Given the description of an element on the screen output the (x, y) to click on. 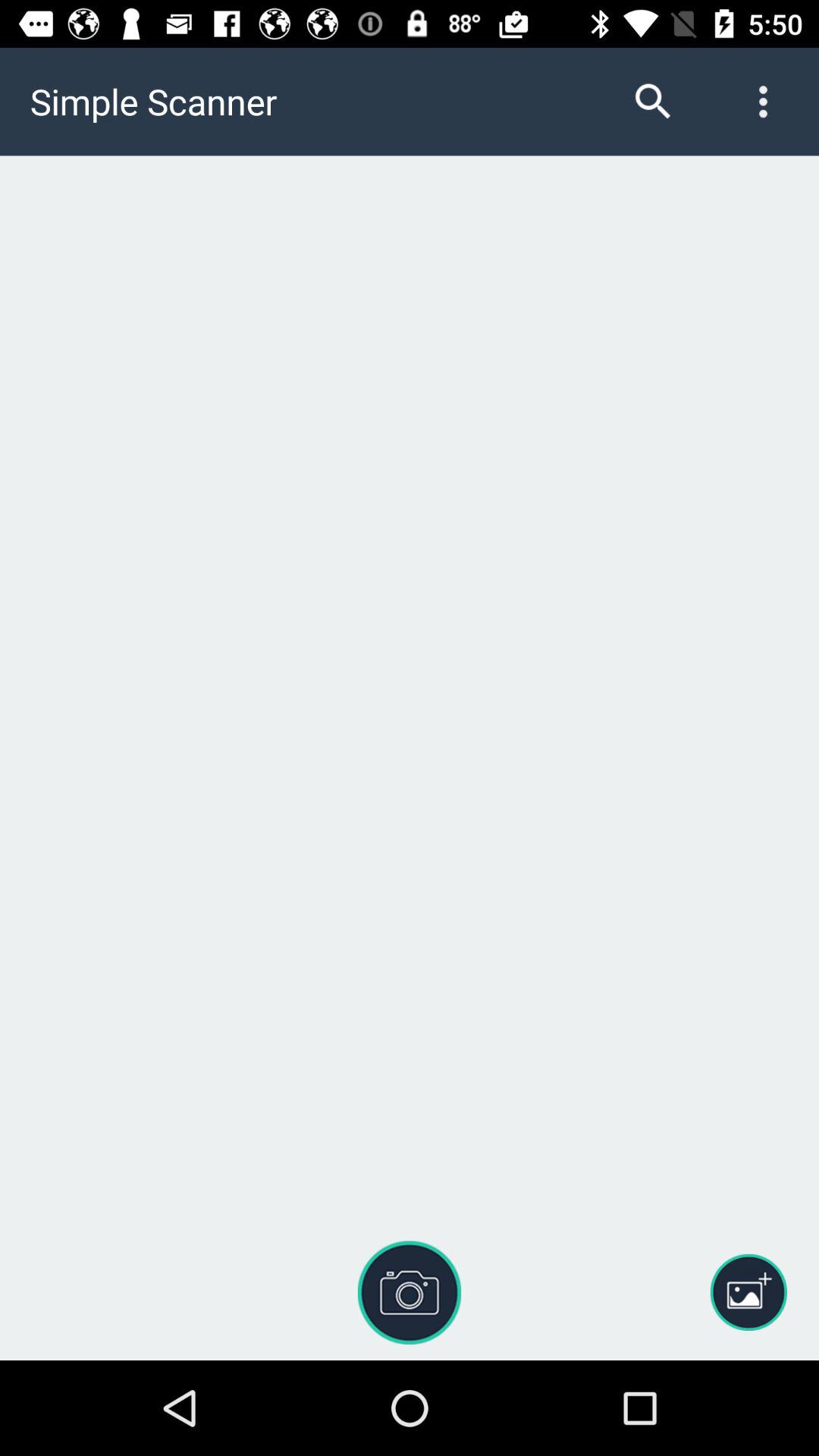
press app to the right of the simple scanner item (653, 101)
